Given the description of an element on the screen output the (x, y) to click on. 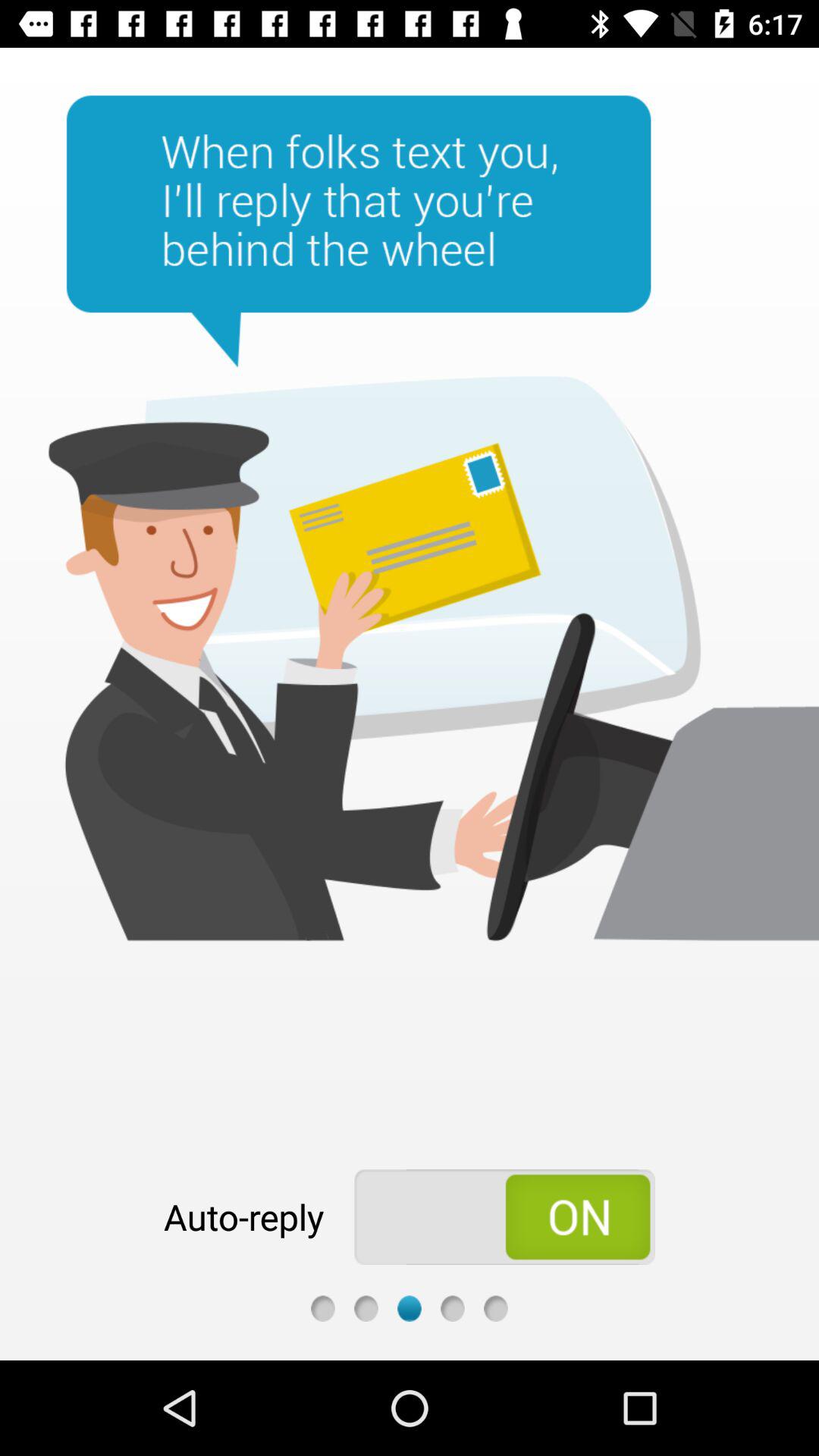
turn on app below the auto-reply icon (322, 1308)
